Given the description of an element on the screen output the (x, y) to click on. 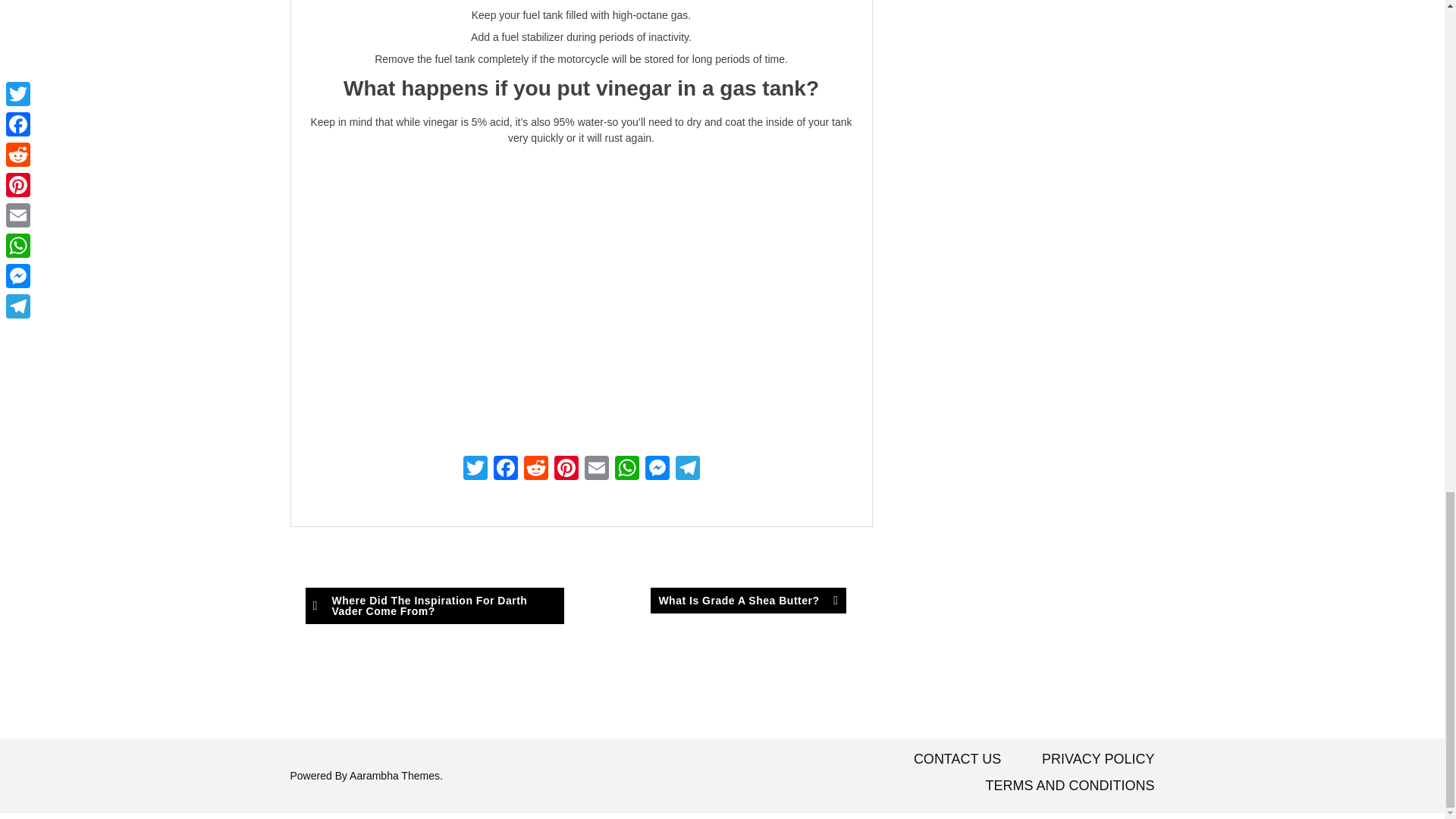
Pinterest (565, 469)
Email (595, 469)
Facebook (504, 469)
Twitter (474, 469)
CONTACT US (957, 758)
WhatsApp (626, 469)
Email (595, 469)
Telegram (686, 469)
Messenger (656, 469)
Reddit (534, 469)
PRIVACY POLICY (1098, 758)
Where Did The Inspiration For Darth Vader Come From? (434, 606)
Pinterest (565, 469)
WhatsApp (626, 469)
